Given the description of an element on the screen output the (x, y) to click on. 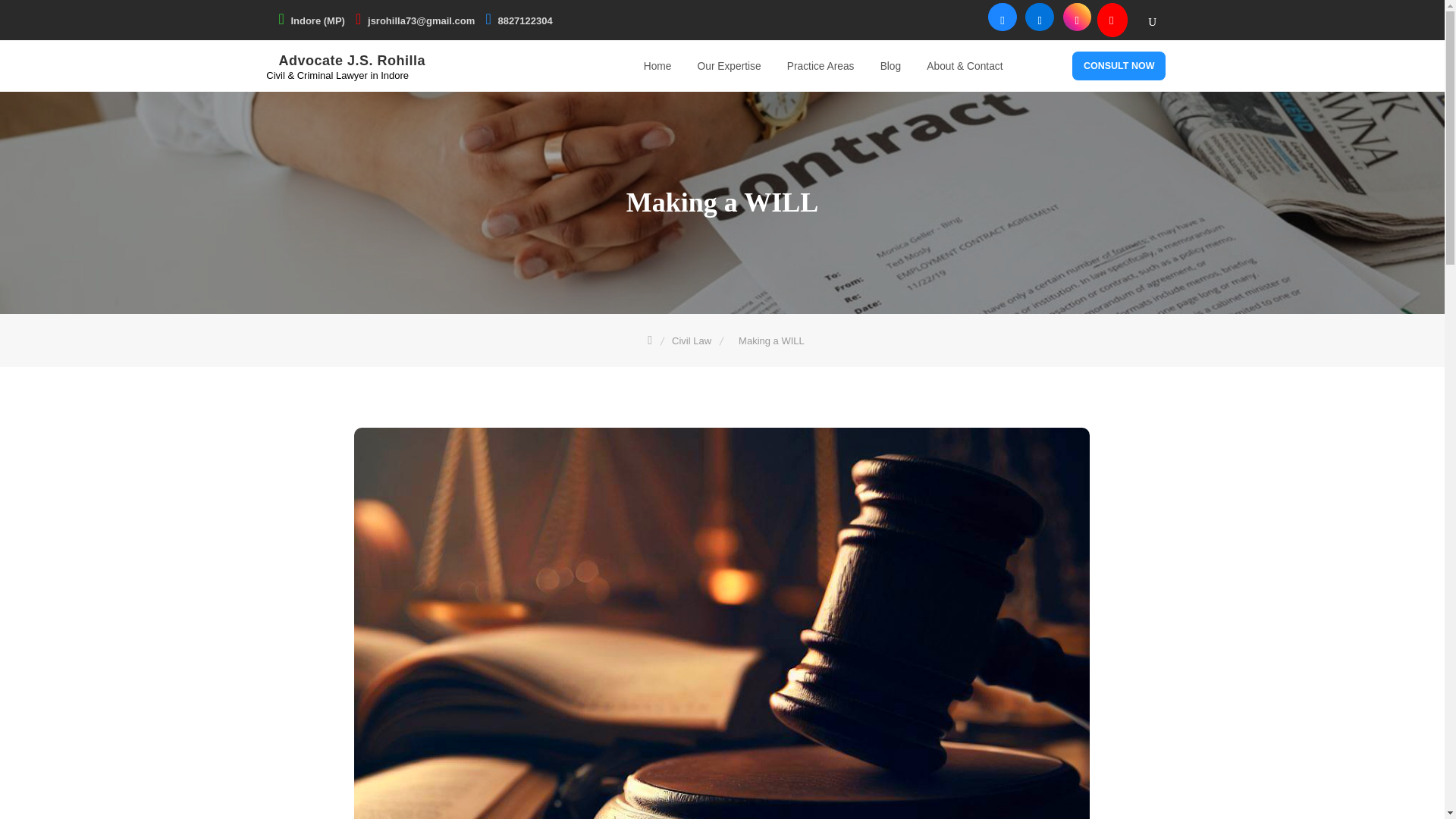
Instagram (716, 13)
Home (656, 66)
CONSULT NOW (1118, 65)
Practice Areas (821, 66)
Facebook (668, 13)
Advocate J.S. Rohilla (352, 59)
Blog (890, 66)
8827122304 (524, 20)
LinkedIn (693, 13)
YouTube (741, 13)
Our Expertise (729, 66)
